Given the description of an element on the screen output the (x, y) to click on. 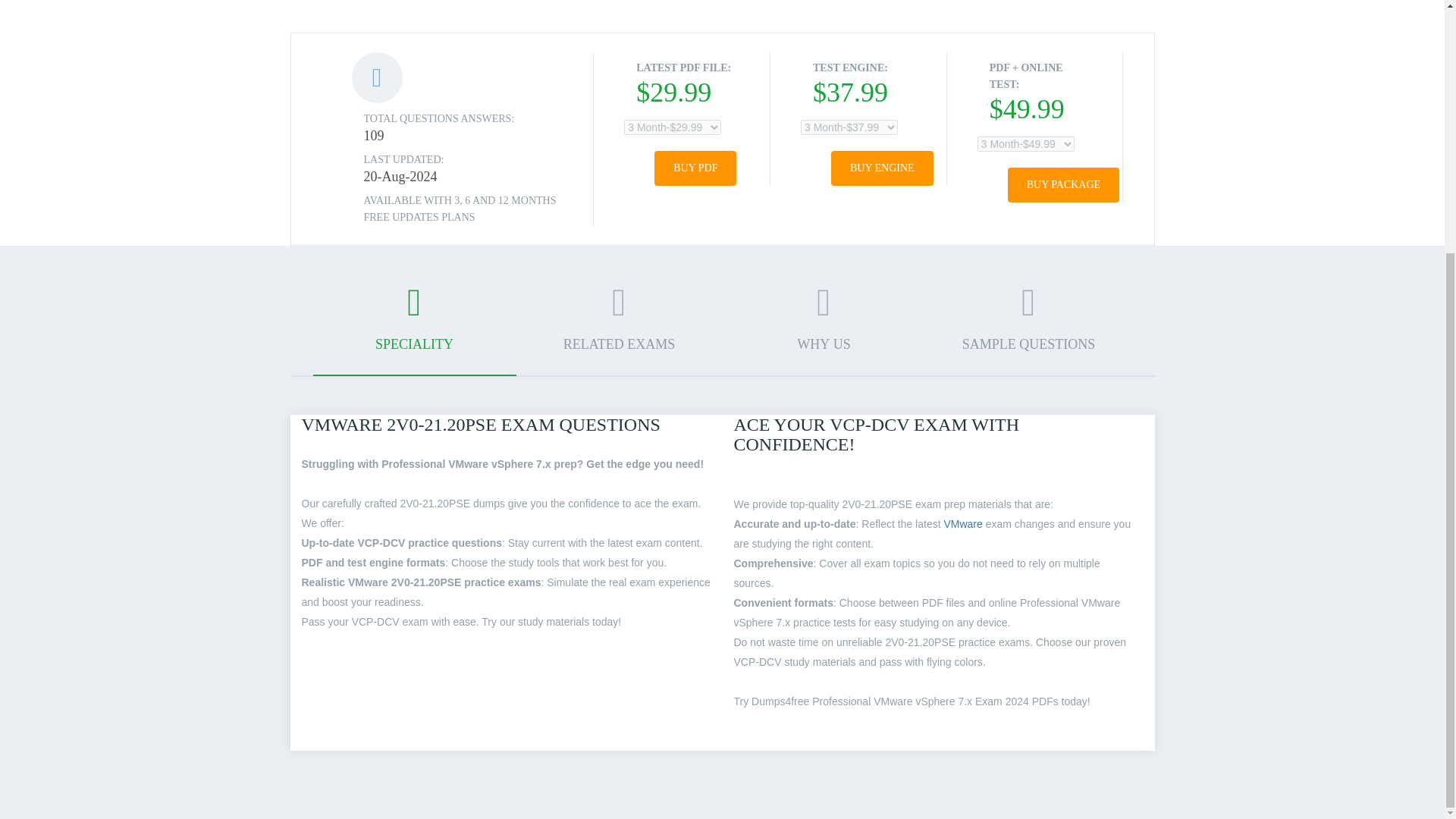
Buy PACKAGE (1063, 184)
SPECIALITY (414, 329)
Buy PDF (694, 167)
Buy PACKAGE (1063, 184)
Buy ENGINE (882, 167)
SAMPLE QUESTIONS (1027, 328)
Buy PDF (694, 167)
VMware (962, 523)
Buy ENGINE (882, 167)
WHY US (823, 328)
